Given the description of an element on the screen output the (x, y) to click on. 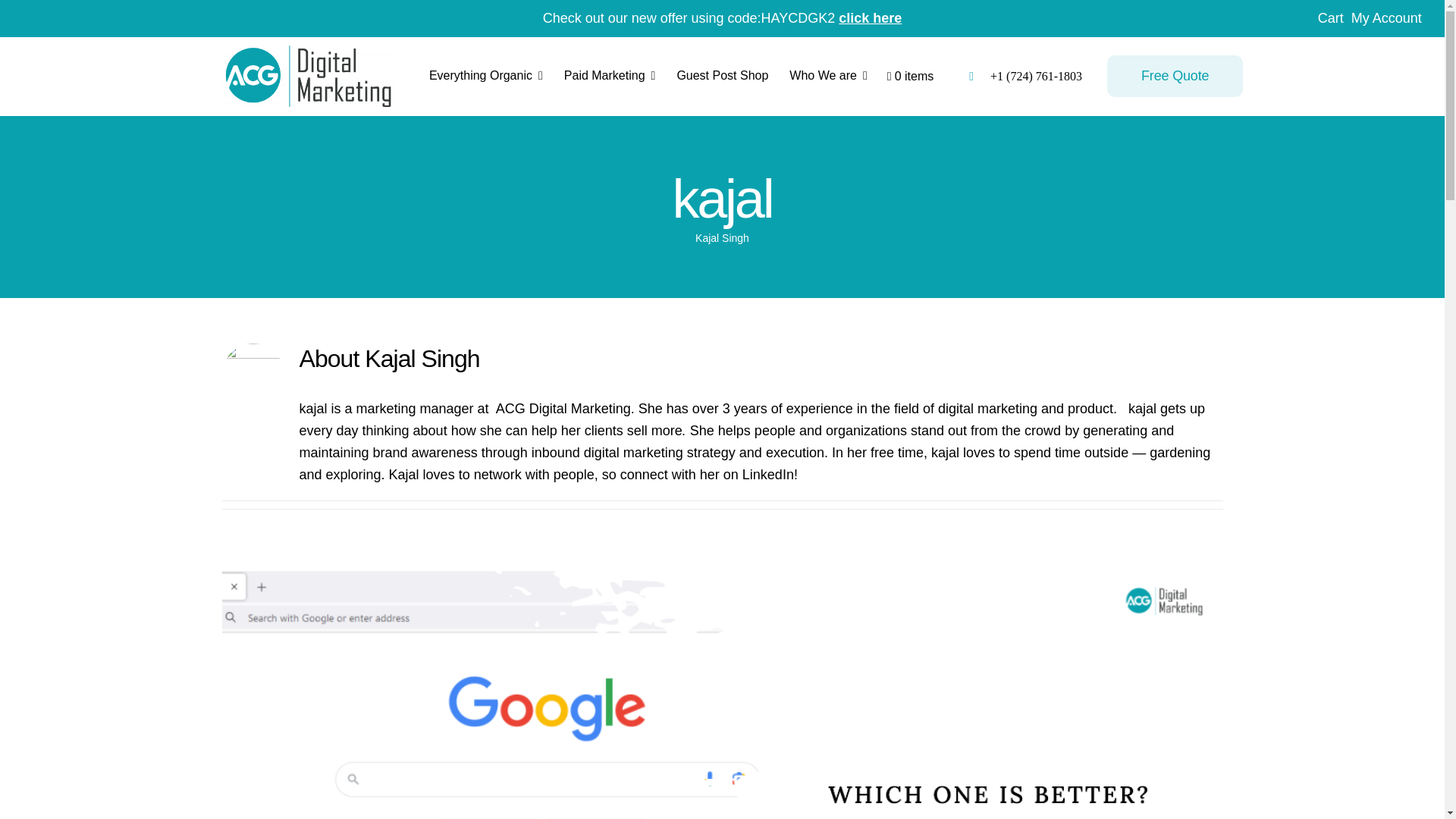
Cart (1330, 17)
click here (869, 17)
Start shopping (909, 76)
My Account (1386, 17)
Everything Organic (486, 76)
Paid Marketing (610, 76)
